Given the description of an element on the screen output the (x, y) to click on. 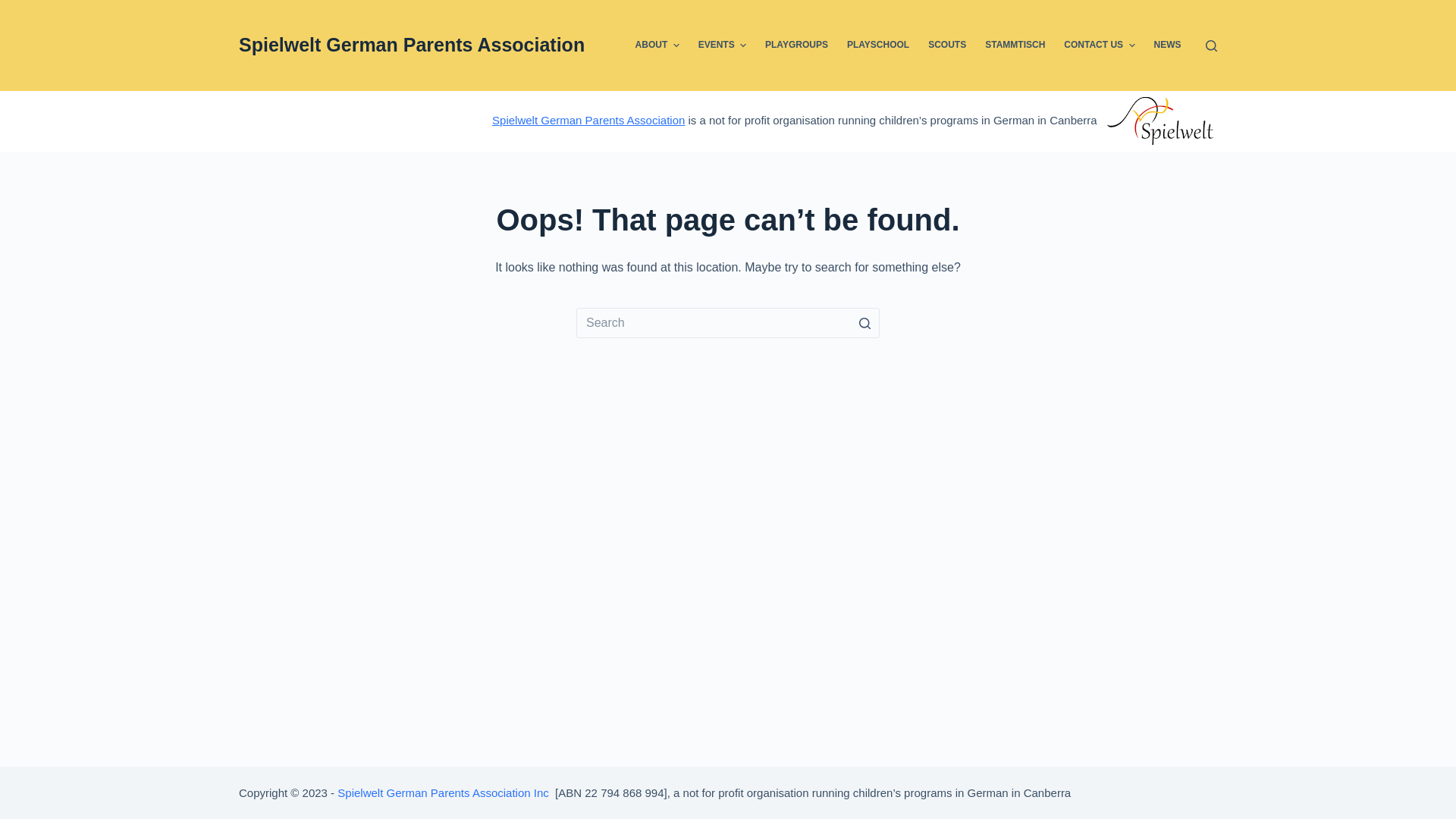
EVENTS Element type: text (721, 45)
STAMMTISCH Element type: text (1014, 45)
PLAYSCHOOL Element type: text (877, 45)
NEWS Element type: text (1167, 45)
Spielwelt German Parents Association Element type: text (411, 44)
Spielwelt German Parents Association Inc Element type: text (442, 791)
Search for... Element type: hover (727, 322)
SCOUTS Element type: text (947, 45)
PLAYGROUPS Element type: text (796, 45)
Skip to content Element type: text (15, 7)
ABOUT Element type: text (656, 45)
Spielwelt German Parents Association Element type: text (588, 119)
CONTACT US Element type: text (1099, 45)
